Given the description of an element on the screen output the (x, y) to click on. 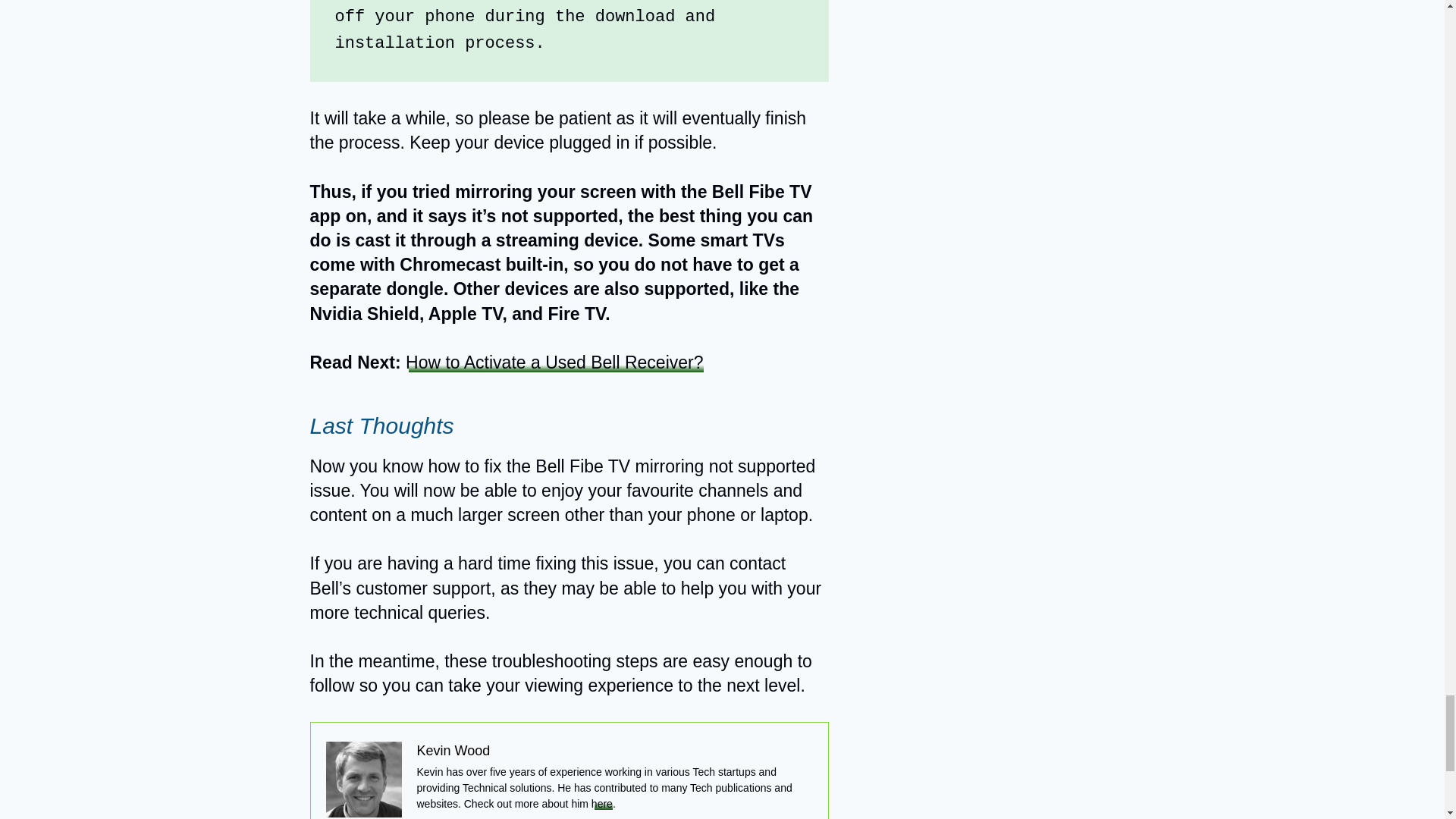
How to Activate a Used Bell Receiver? (554, 362)
here (601, 803)
Kevin Wood (453, 750)
